Given the description of an element on the screen output the (x, y) to click on. 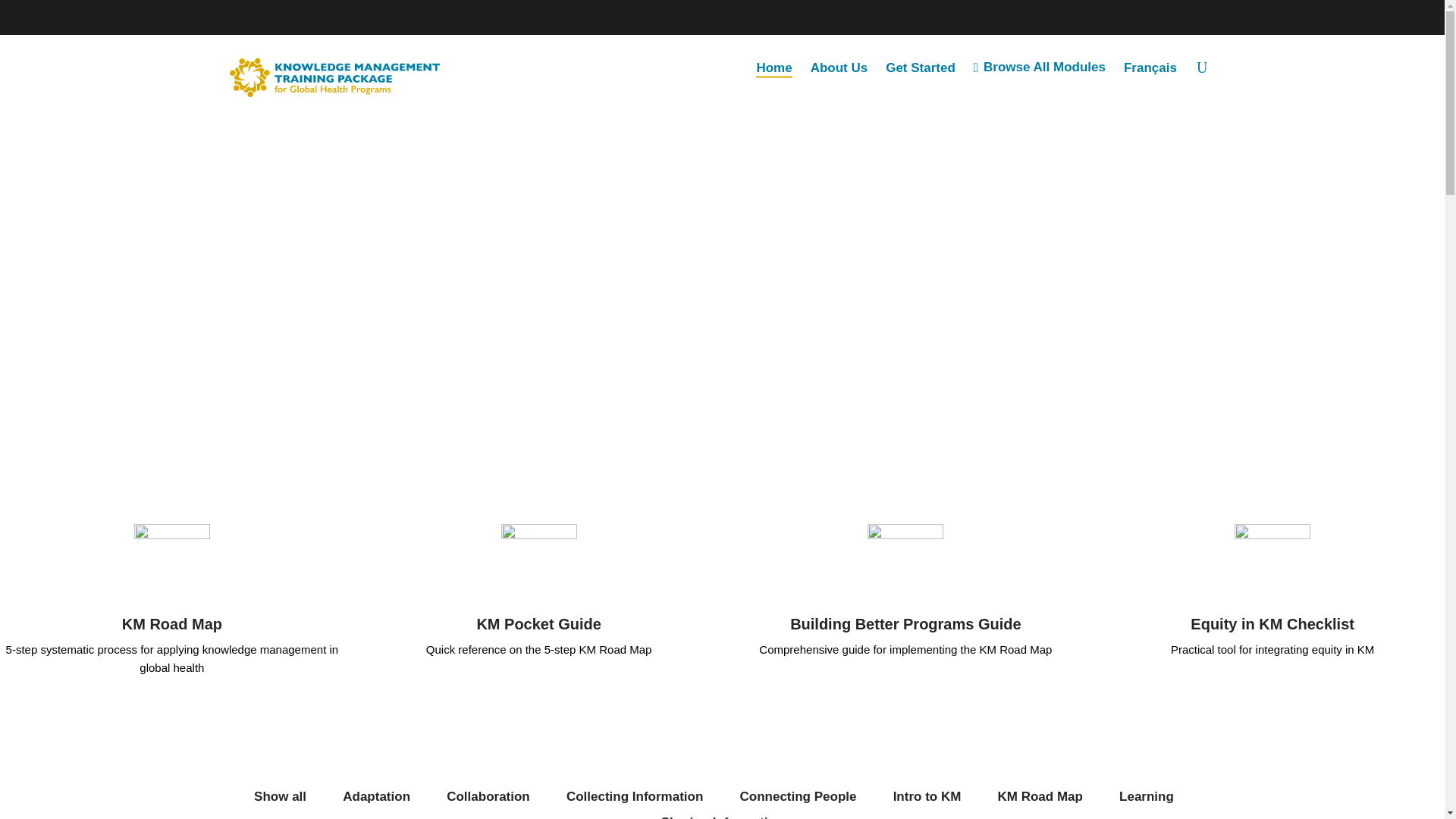
KM Road Map (172, 624)
Equity in KM Checklist (1272, 624)
KM Pocket Guide (537, 624)
About Us (844, 67)
Get Started (924, 67)
Building Better Programs Guide (905, 624)
Browse All Modules (1044, 67)
